Given the description of an element on the screen output the (x, y) to click on. 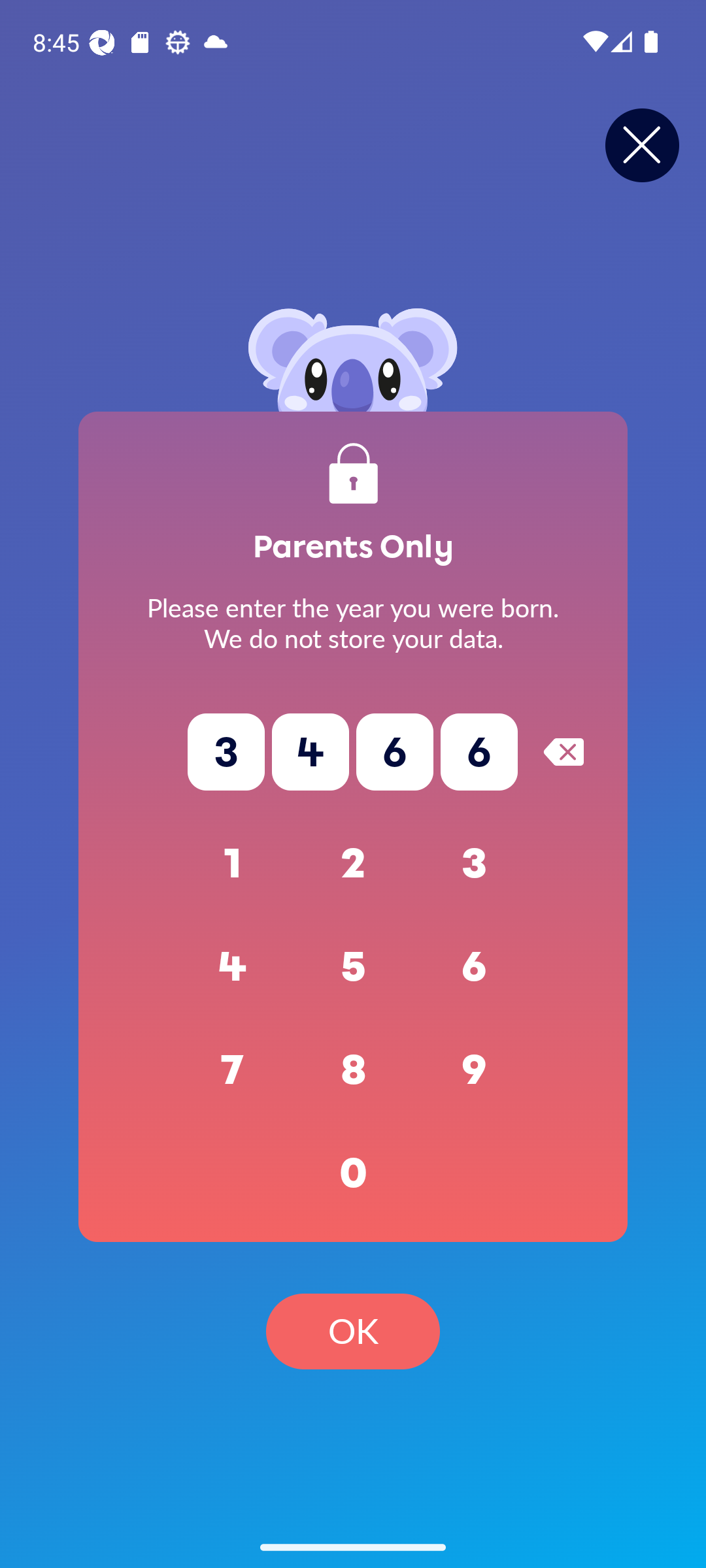
Delete (563, 751)
1 (232, 863)
2 (353, 863)
3 (474, 863)
4 (232, 966)
5 (353, 966)
6 (474, 966)
7 (232, 1069)
8 (353, 1069)
9 (474, 1069)
0 (353, 1173)
OK (352, 1331)
